Given the description of an element on the screen output the (x, y) to click on. 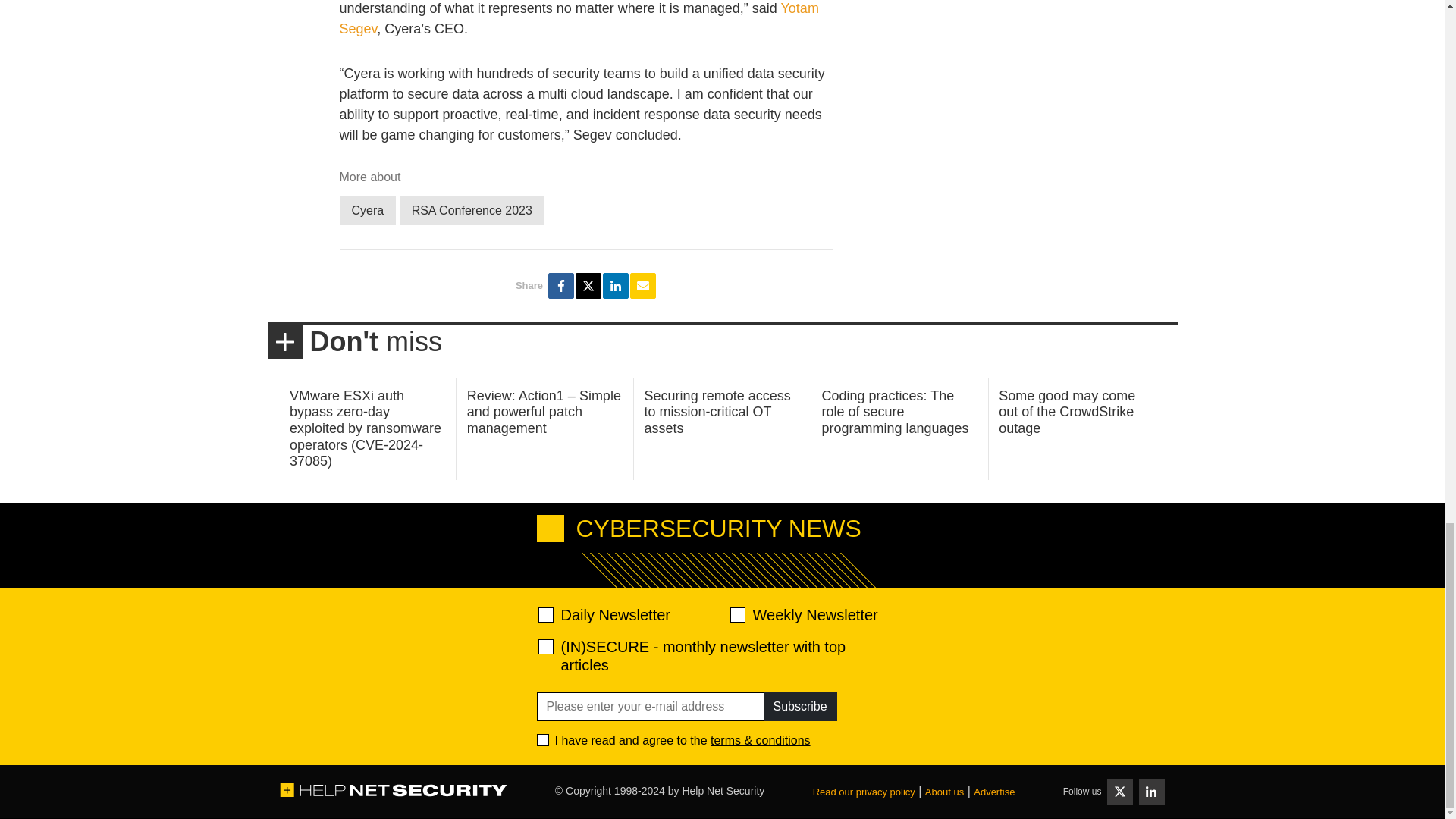
Cyera (367, 210)
d2d471aafa (736, 614)
Cyera (367, 210)
28abe5d9ef (545, 646)
RSA Conference 2023 (471, 210)
1 (542, 739)
RSA Conference 2023 (471, 210)
Yotam Segev (578, 18)
520ac2f639 (545, 614)
